Given the description of an element on the screen output the (x, y) to click on. 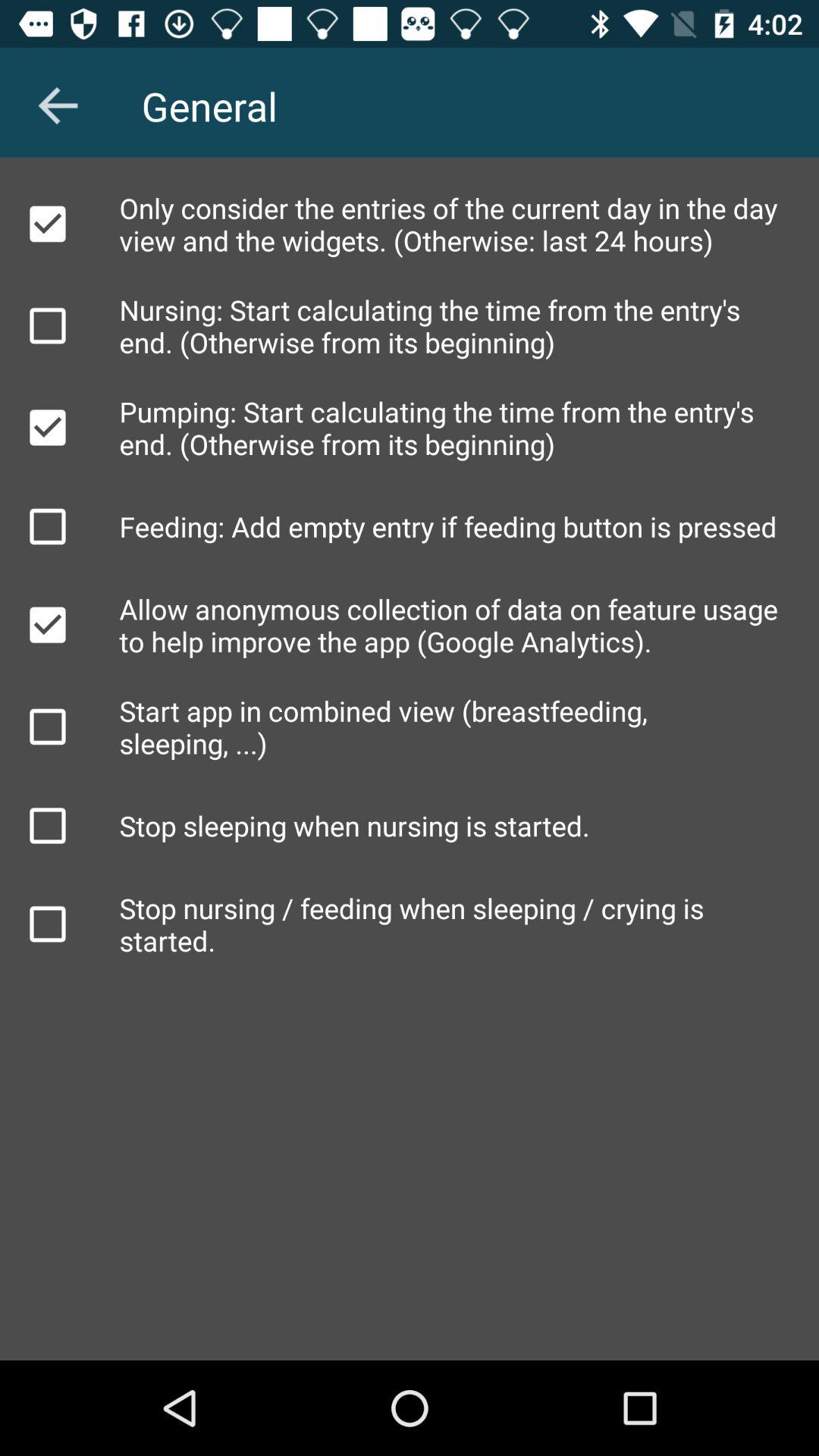
multi view option (47, 726)
